Given the description of an element on the screen output the (x, y) to click on. 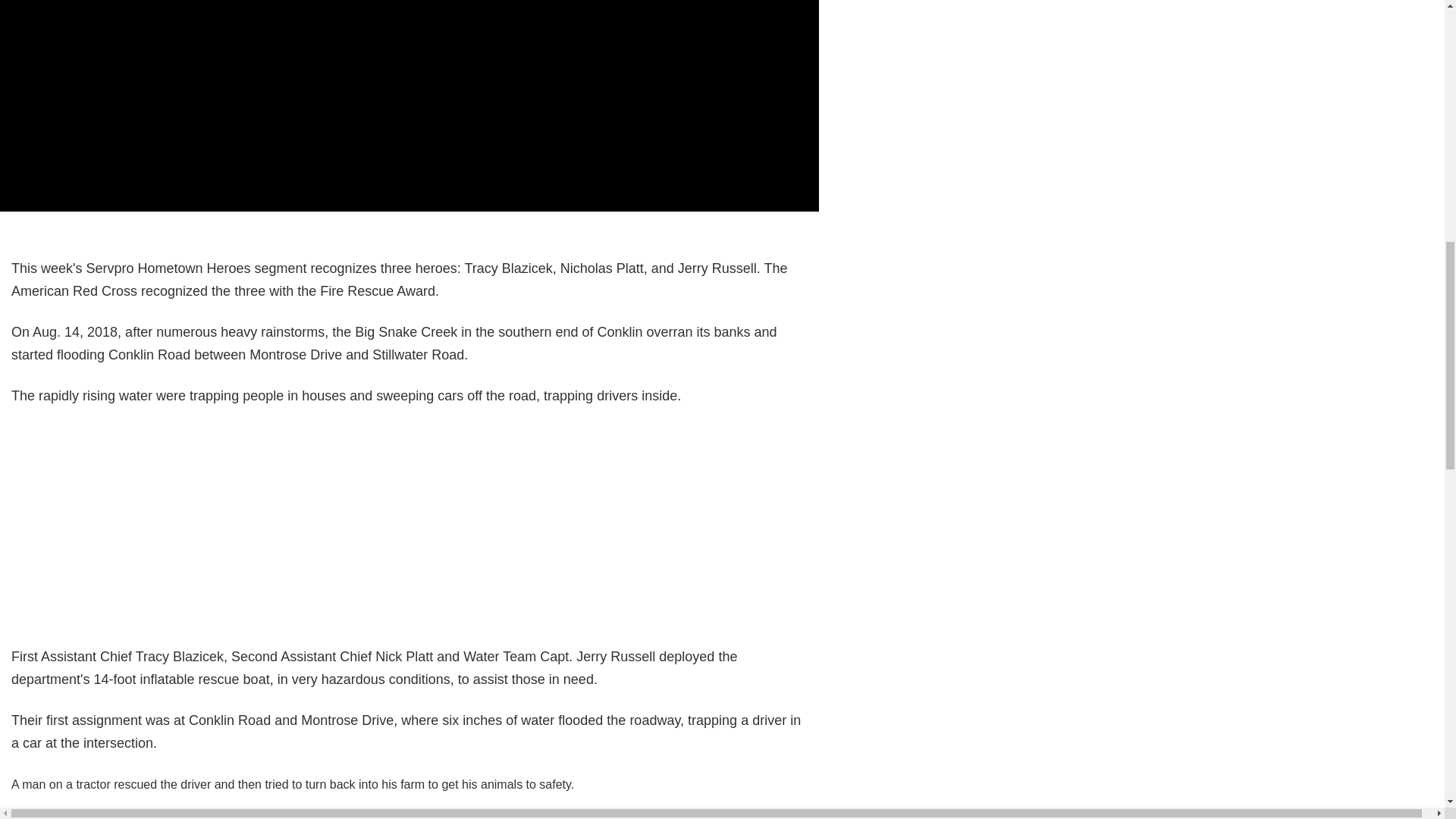
3rd party ad content (408, 816)
3rd party ad content (408, 520)
